Given the description of an element on the screen output the (x, y) to click on. 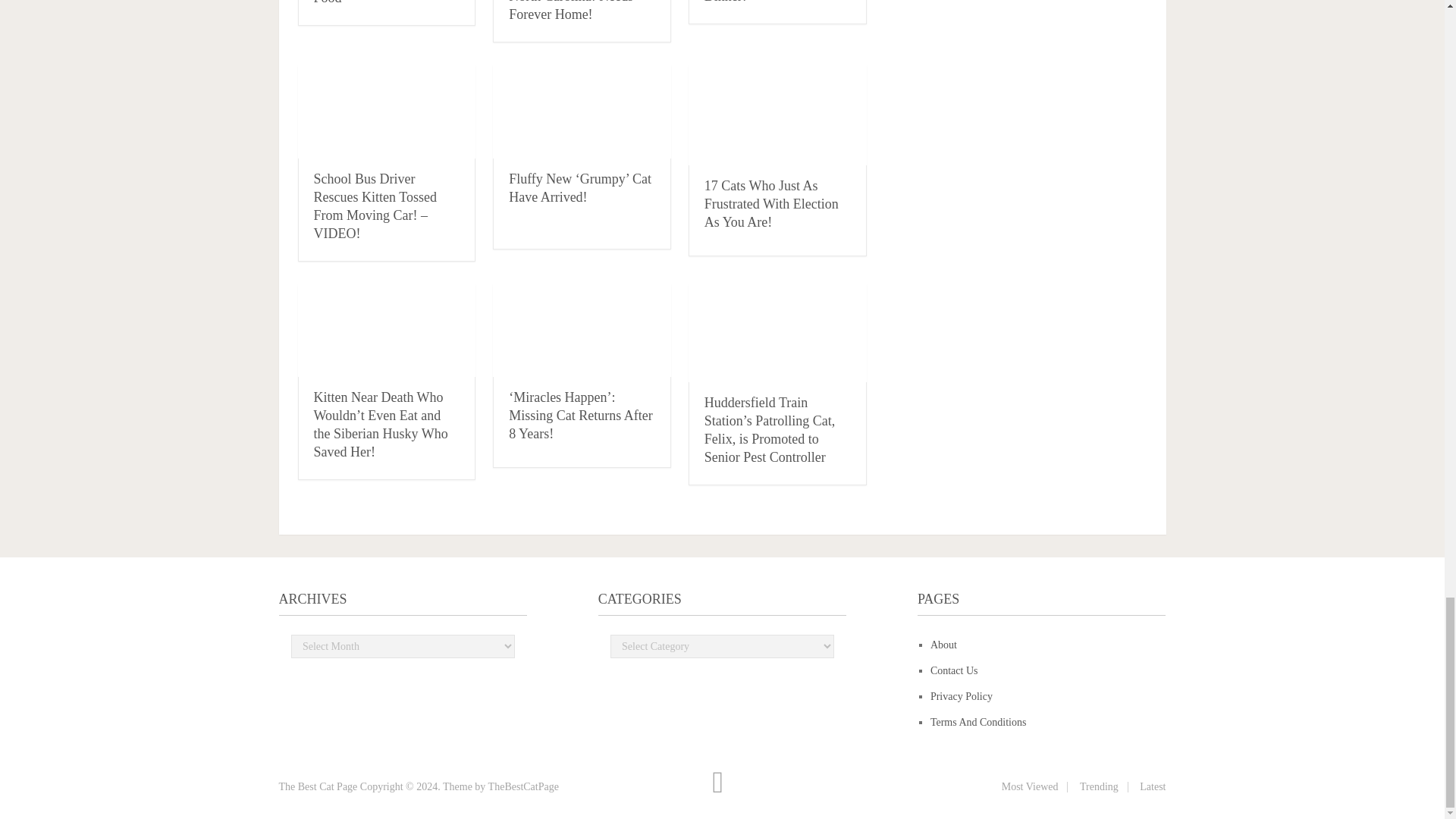
17 Cats Who Just As Frustrated With Election As You Are! (771, 204)
